Given the description of an element on the screen output the (x, y) to click on. 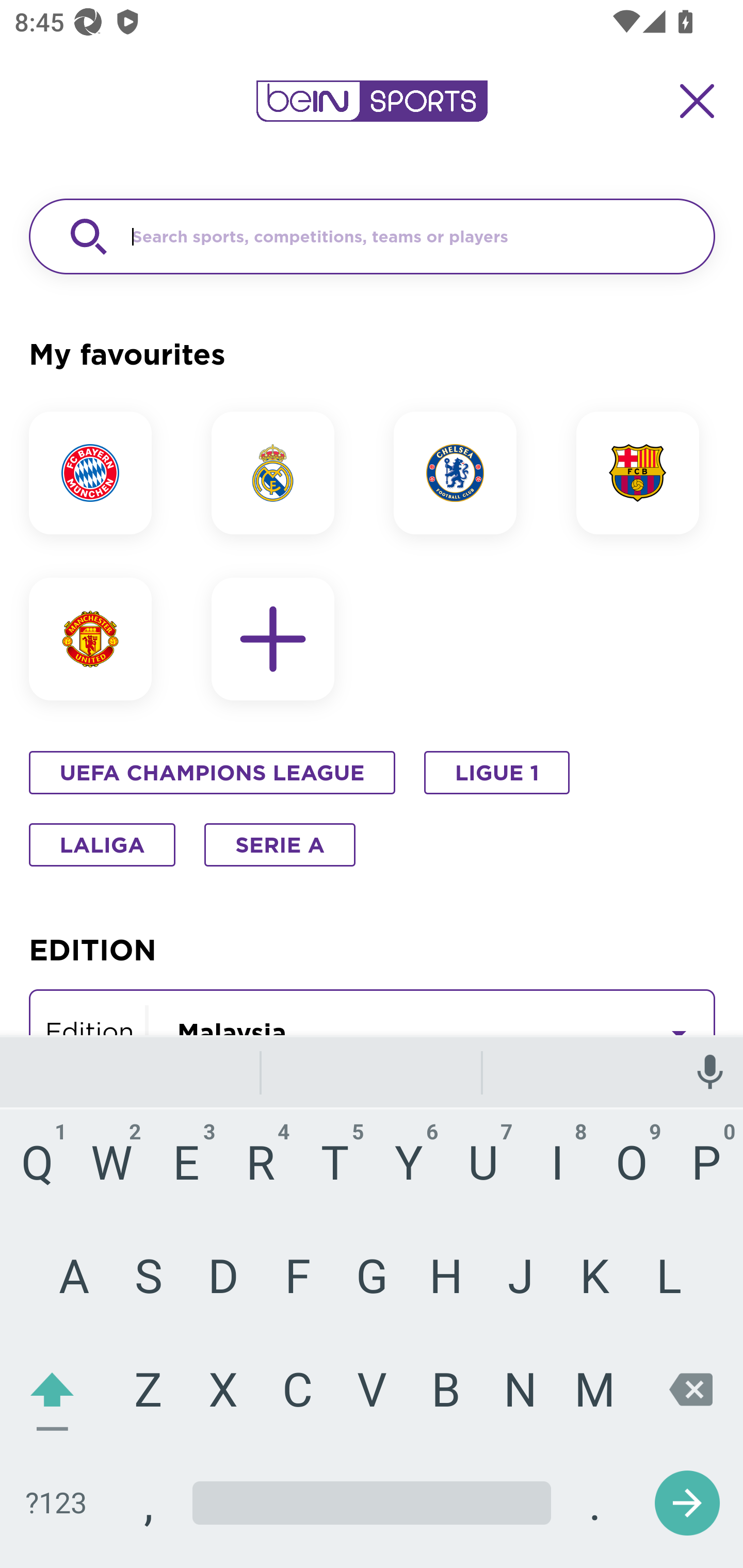
en-my?platform=mobile_android bein logo (371, 101)
Close Menu Icon (697, 101)
